Given the description of an element on the screen output the (x, y) to click on. 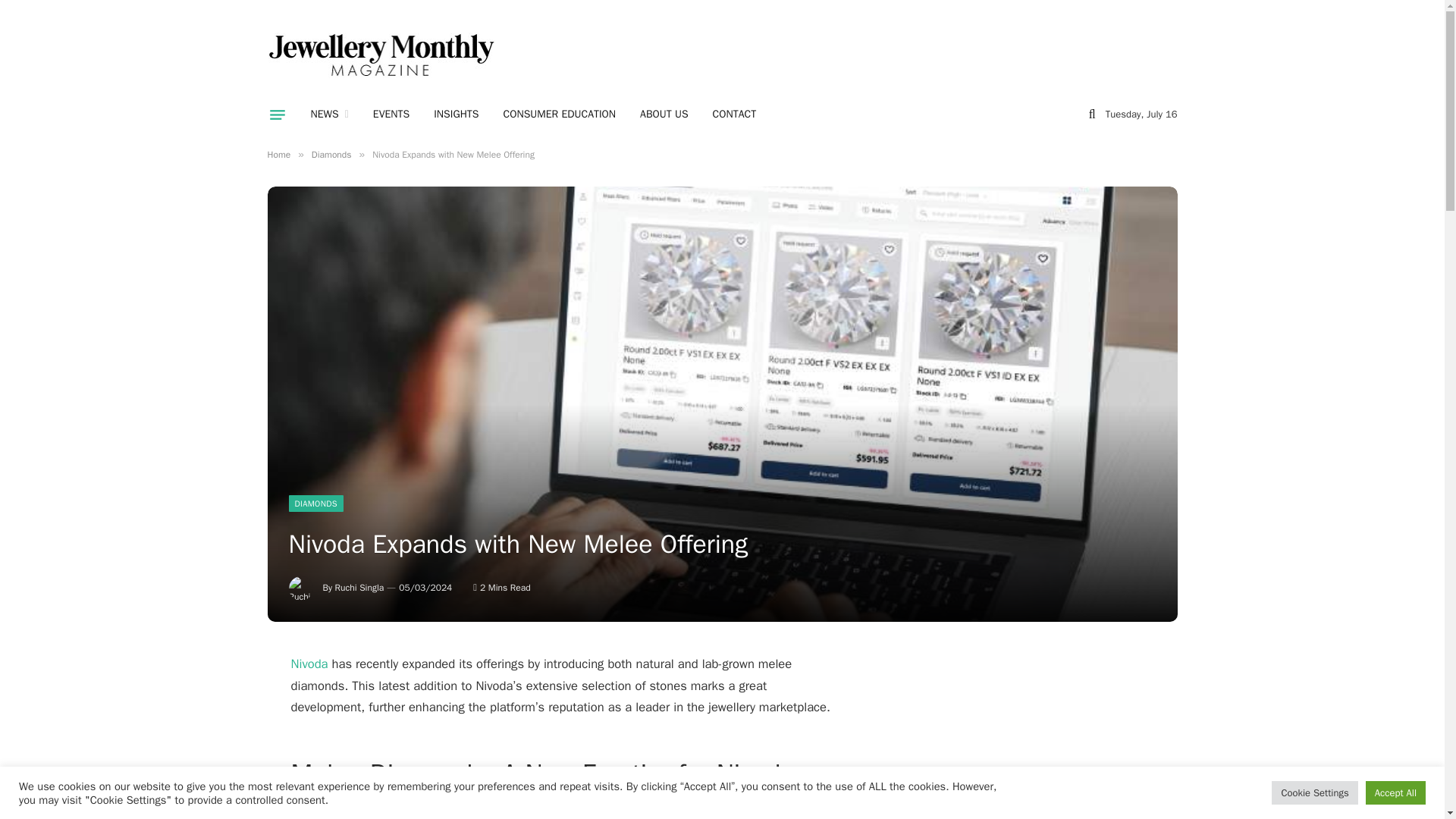
Posts by Ruchi Singla (359, 587)
NEWS (329, 114)
INSIGHTS (456, 114)
Retail Jewellery News and Industry events (329, 114)
ABOUT US (663, 114)
Nivoda (310, 663)
EVENTS (391, 114)
CONTACT (734, 114)
Jewellery Monthly (380, 54)
Ruchi Singla (359, 587)
DIAMONDS (315, 503)
CONSUMER EDUCATION (560, 114)
Diamonds (331, 154)
Home (277, 154)
